Given the description of an element on the screen output the (x, y) to click on. 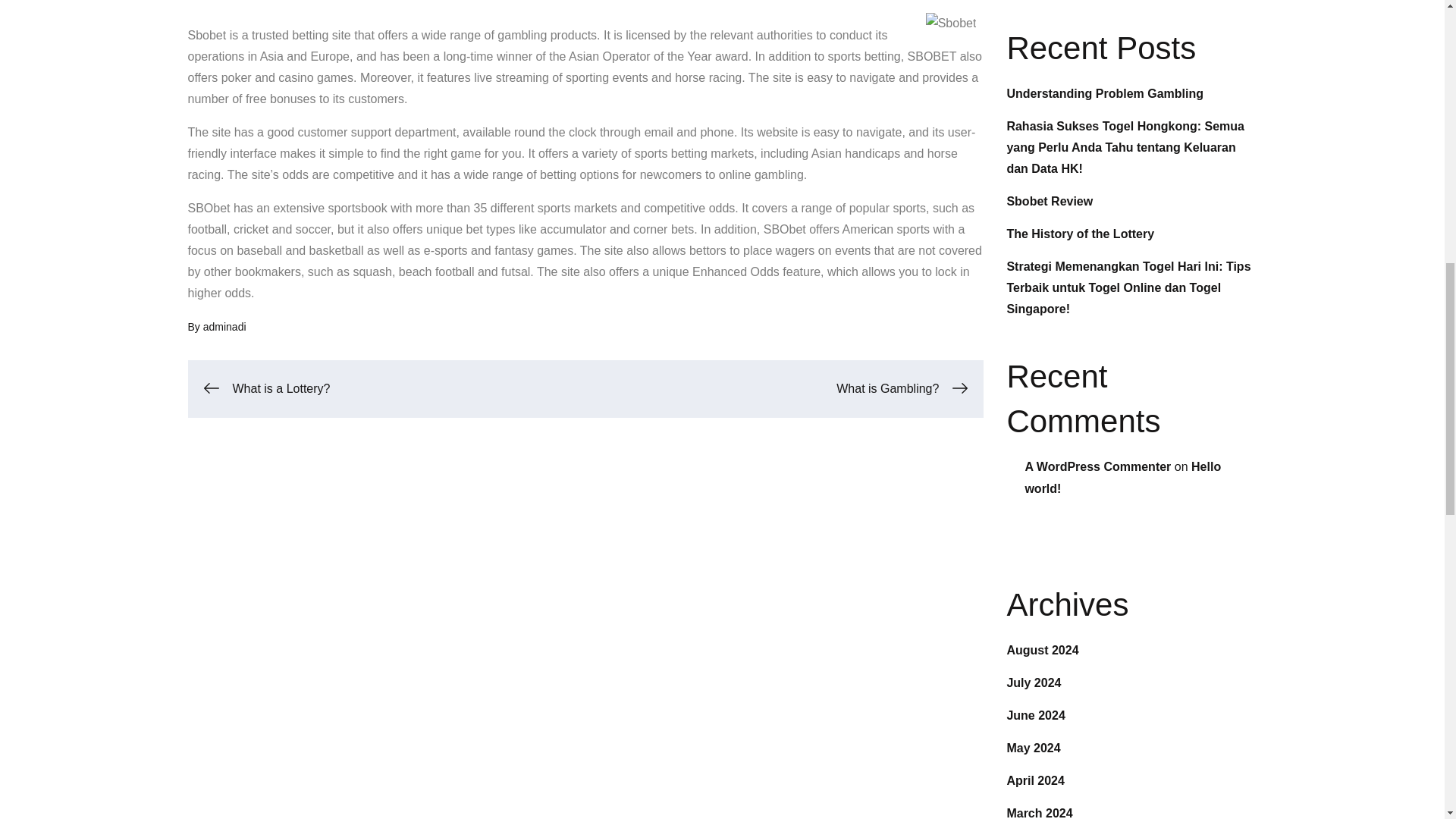
August 2024 (1042, 649)
March 2024 (1038, 812)
A WordPress Commenter (1097, 466)
Sbobet Review (1049, 201)
Hello world! (1123, 477)
adminadi (224, 326)
The History of the Lottery (1080, 233)
May 2024 (1032, 748)
